Given the description of an element on the screen output the (x, y) to click on. 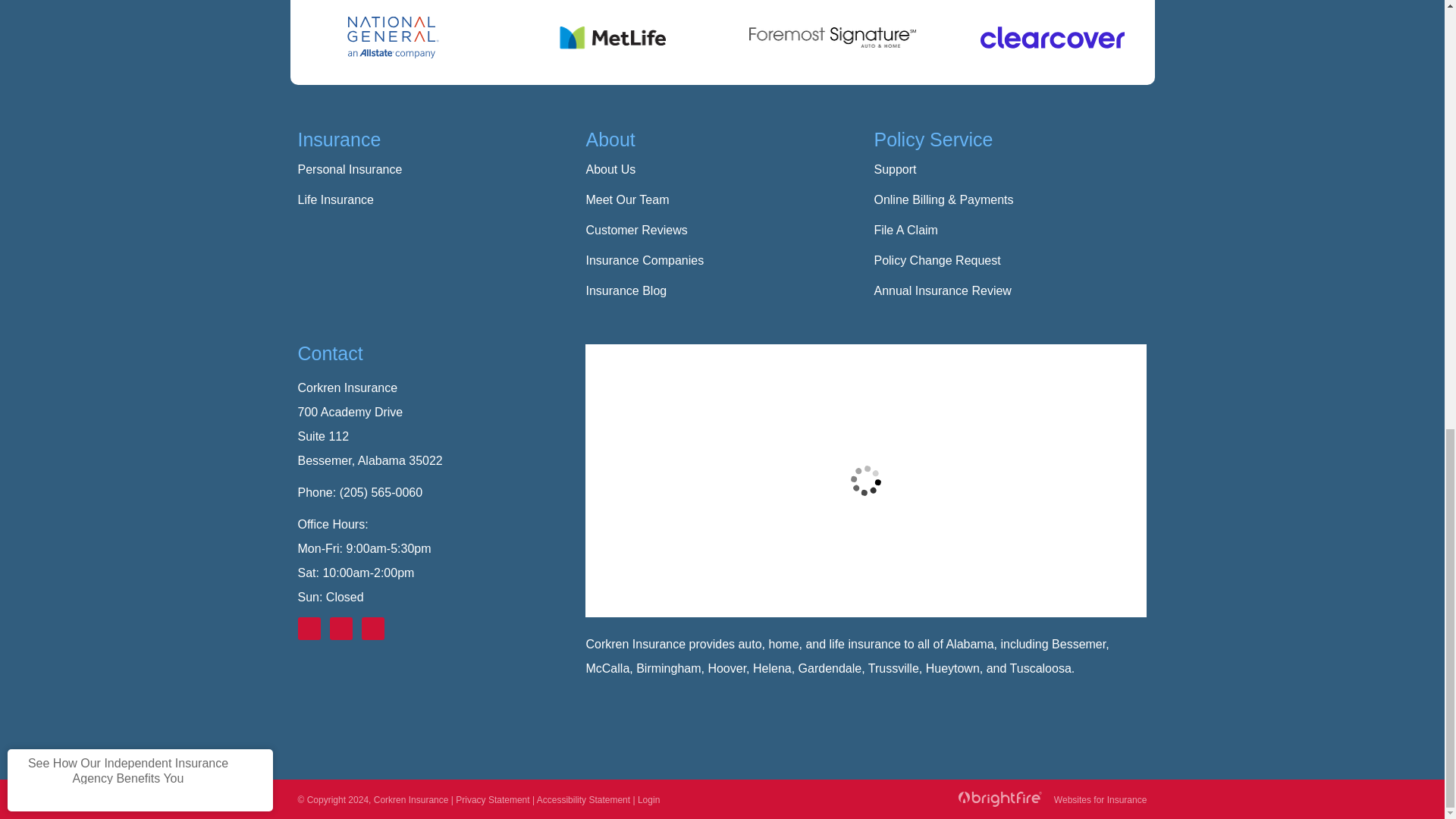
Learn more about Corkren Insurance and Clearcover (1052, 37)
Learn more about Corkren Insurance and Foremost Signature (832, 37)
Learn more about Corkren Insurance and MetLife Insurance (611, 37)
